Given the description of an element on the screen output the (x, y) to click on. 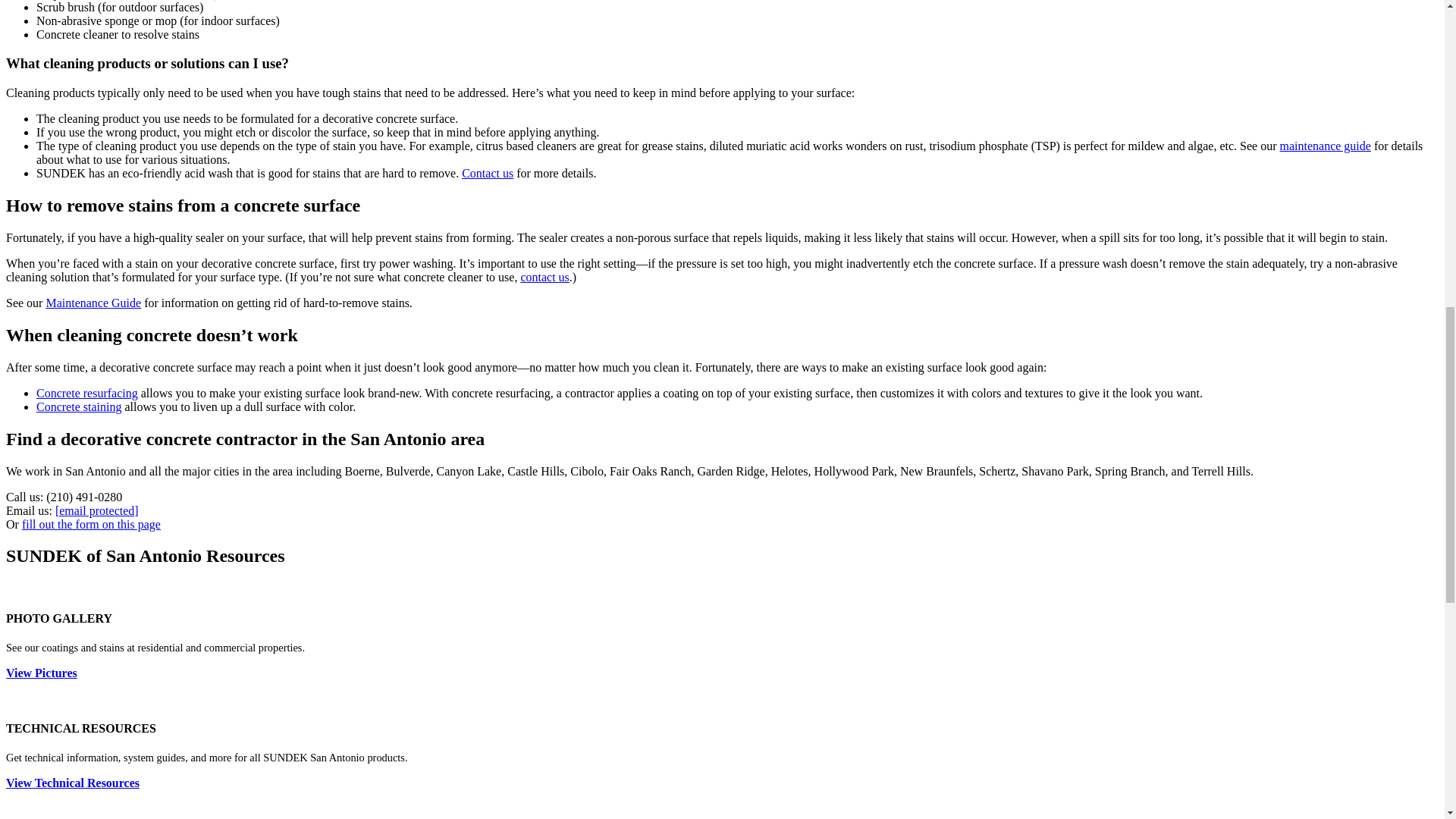
Maintenance Guide (93, 302)
fill out the form on this page (90, 523)
maintenance guide (1325, 145)
Concrete resurfacing (87, 392)
Contact us (487, 173)
View Pictures (41, 672)
contact us (544, 277)
View Technical Resources (72, 782)
Concrete staining (78, 406)
